Given the description of an element on the screen output the (x, y) to click on. 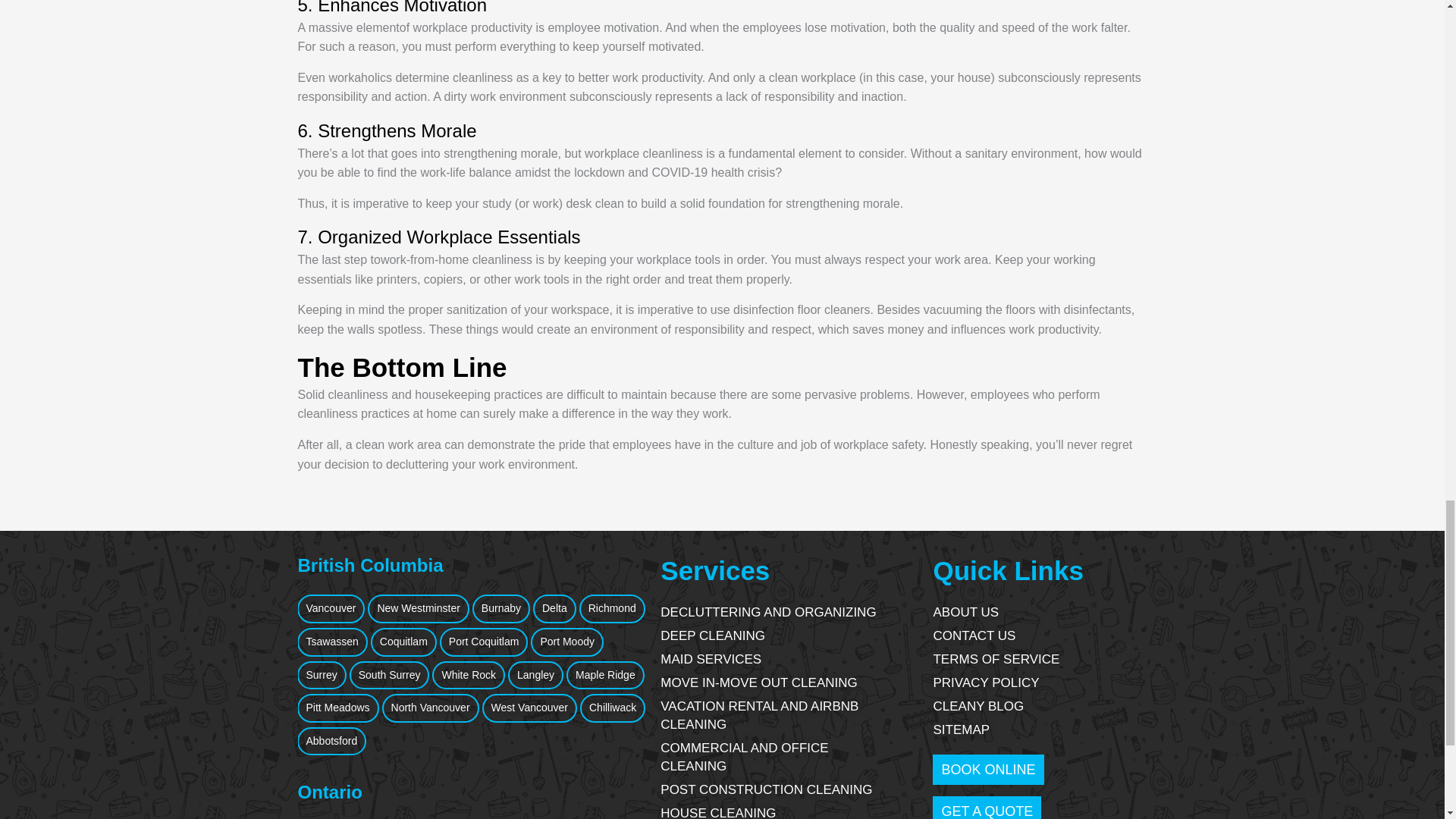
Langley (535, 675)
Burnaby (500, 608)
Port Moody (567, 642)
Coquitlam (403, 642)
Delta (554, 608)
Vancouver (331, 608)
Tsawassen (332, 642)
New Westminster (418, 608)
Richmond (612, 608)
South Surrey (389, 675)
White Rock (468, 675)
Pitt Meadows (337, 707)
Maple Ridge (605, 675)
Surrey (321, 675)
Port Coquitlam (483, 642)
